Given the description of an element on the screen output the (x, y) to click on. 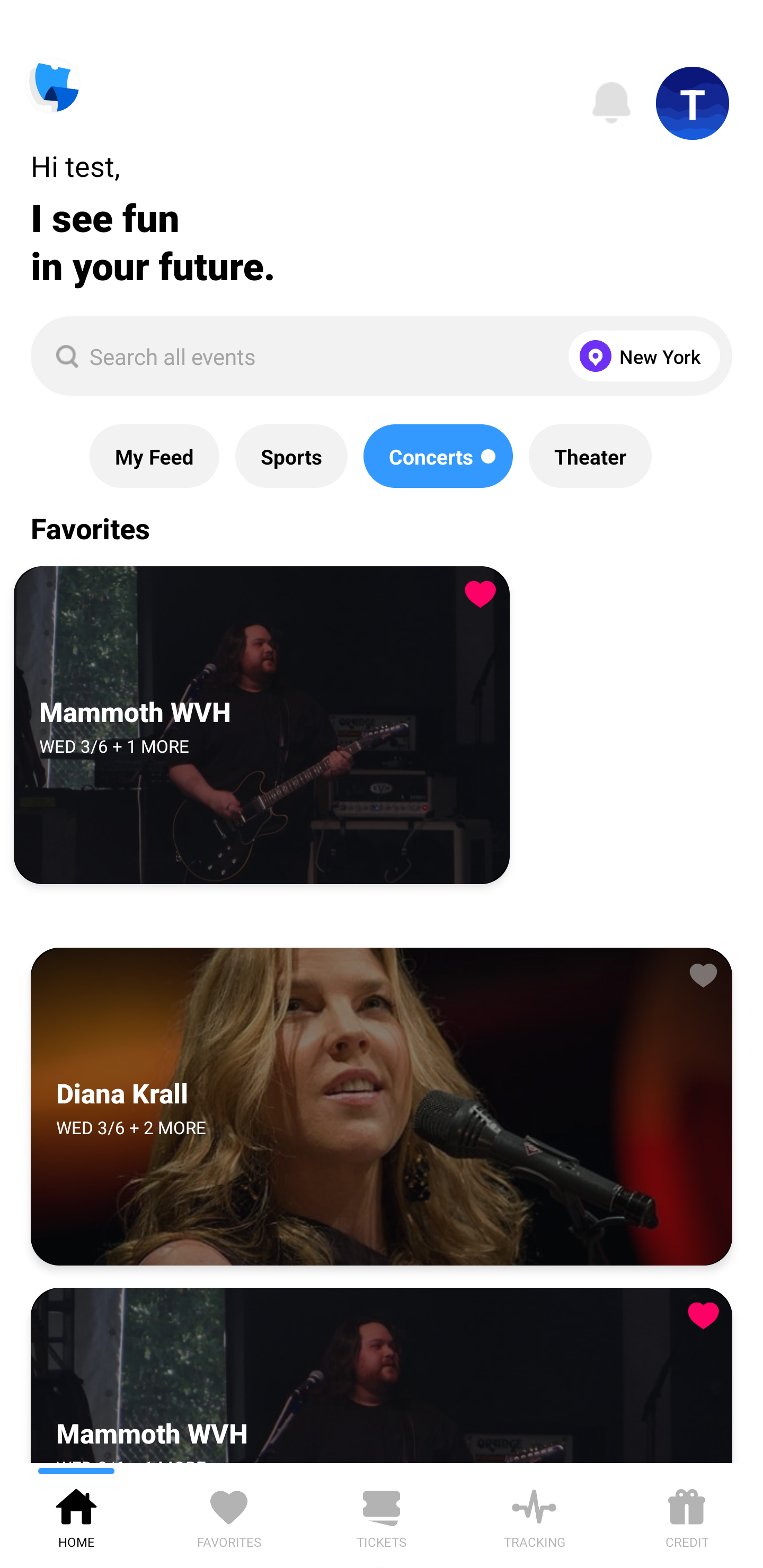
T (692, 103)
New York (640, 355)
My Feed (154, 455)
Sports (291, 455)
Concerts (437, 455)
Theater (589, 455)
HOME (76, 1515)
FAVORITES (228, 1515)
TICKETS (381, 1515)
TRACKING (533, 1515)
CREDIT (686, 1515)
